Given the description of an element on the screen output the (x, y) to click on. 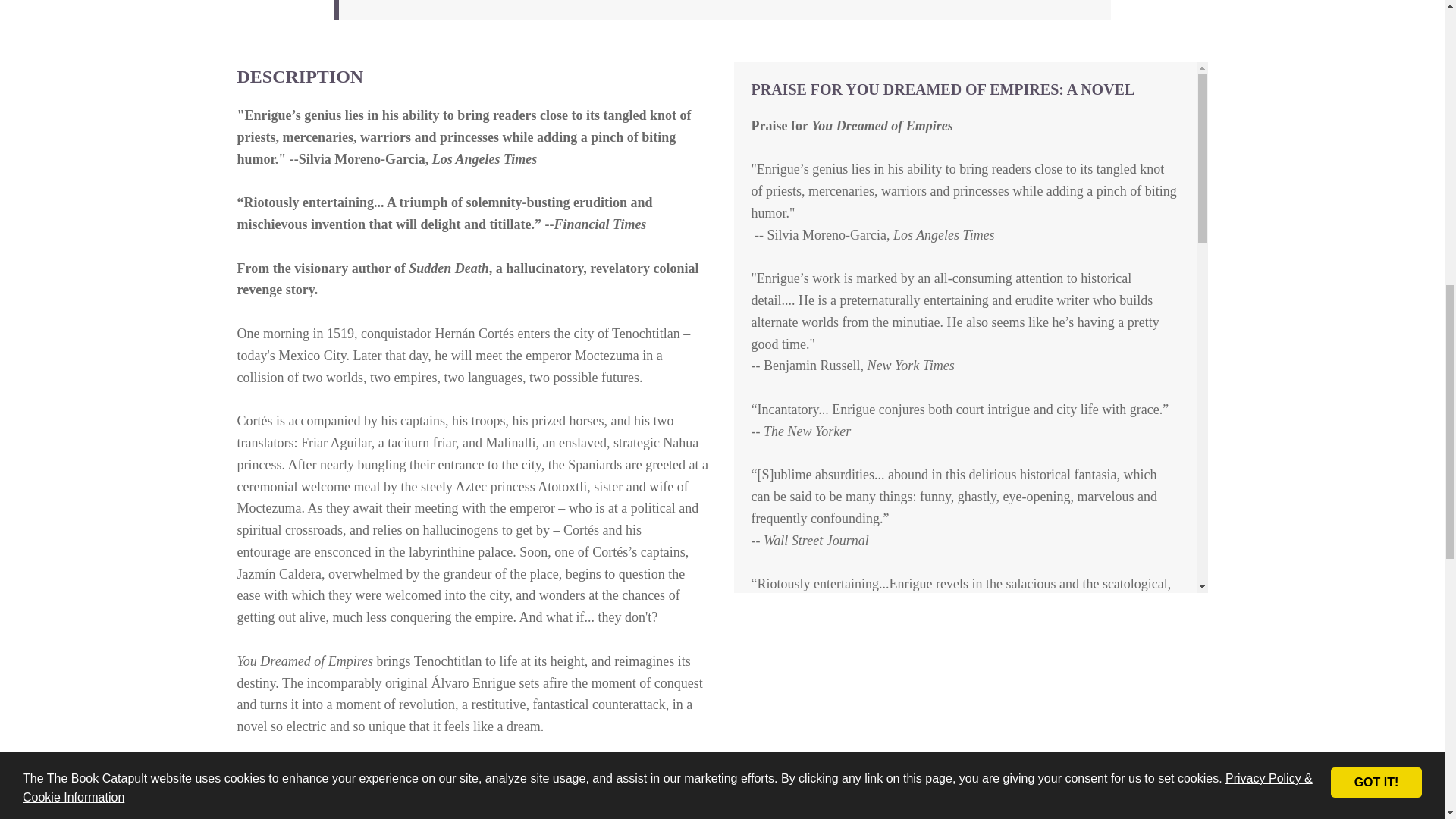
GOT IT! (1376, 55)
